Given the description of an element on the screen output the (x, y) to click on. 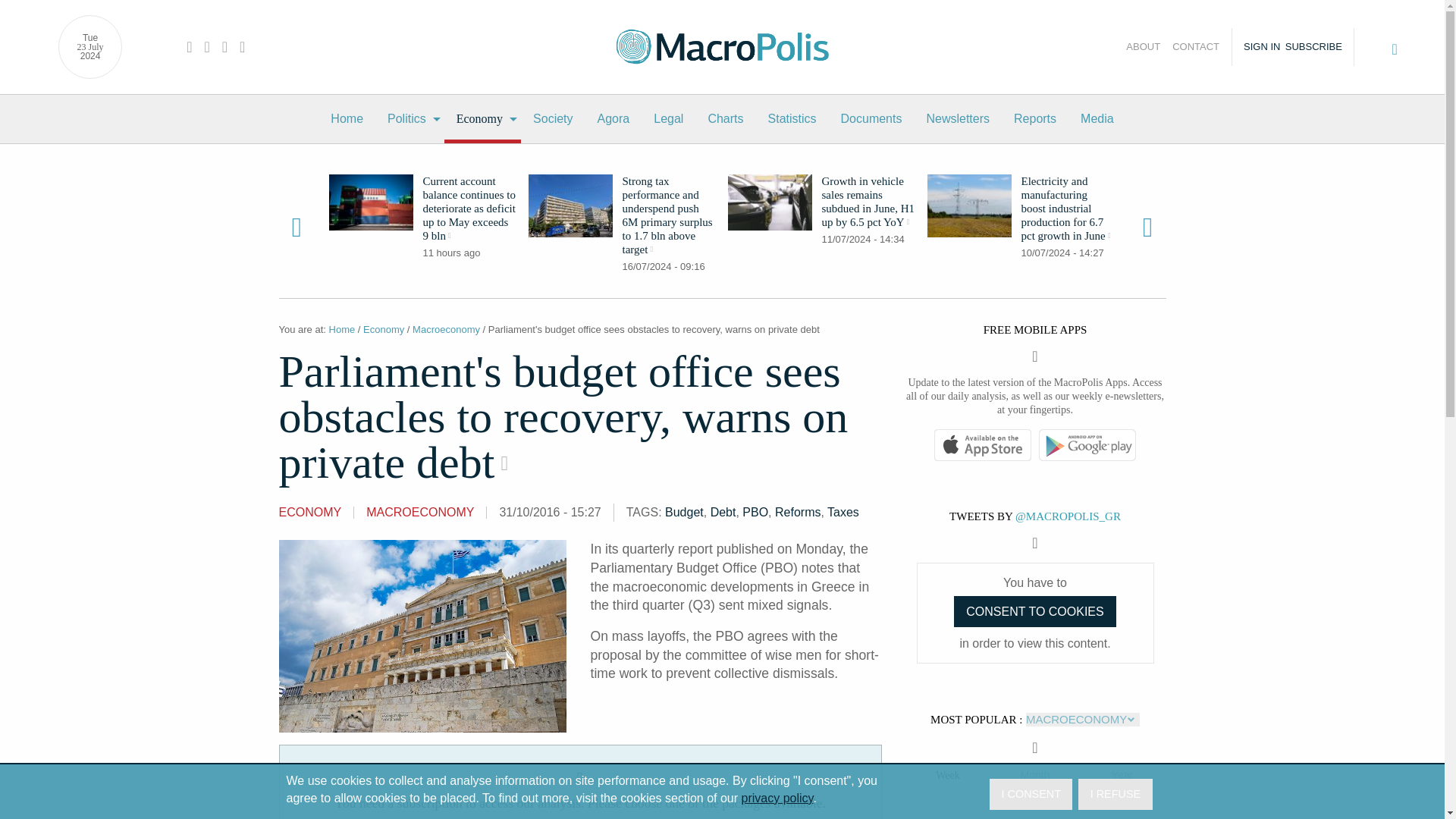
Budget (684, 512)
Home (346, 119)
Agora (613, 119)
SUBSCRIBE (1318, 47)
Economy (482, 119)
ABOUT (1139, 47)
I refuse (1114, 793)
Reports (1034, 119)
SIGN IN (1256, 47)
Image: MacroPolis (570, 205)
Newsletters (957, 119)
Politics (409, 119)
Charts (725, 119)
